Given the description of an element on the screen output the (x, y) to click on. 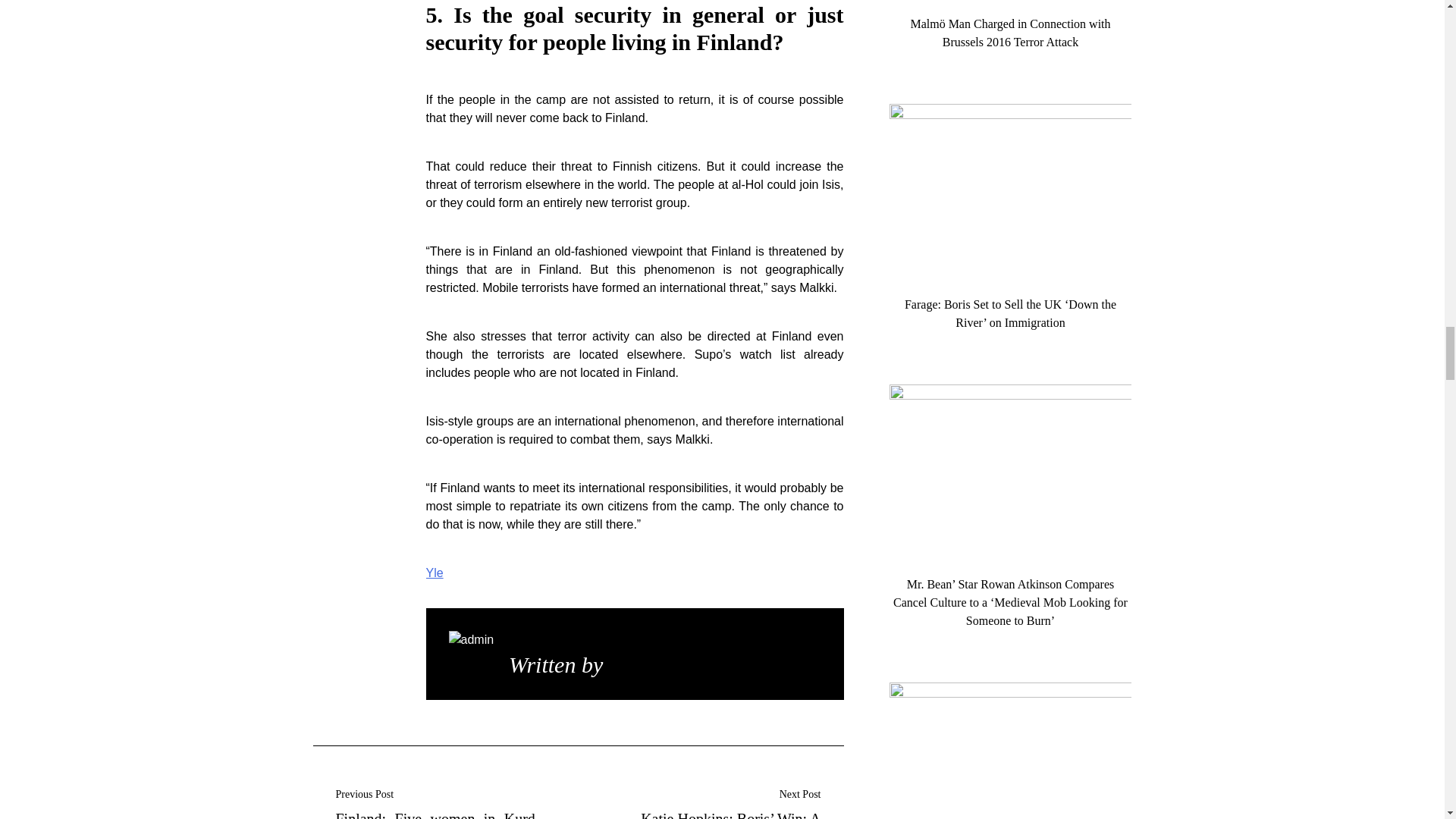
Yle (435, 572)
Posts by KGS (630, 664)
KGS (630, 664)
